Given the description of an element on the screen output the (x, y) to click on. 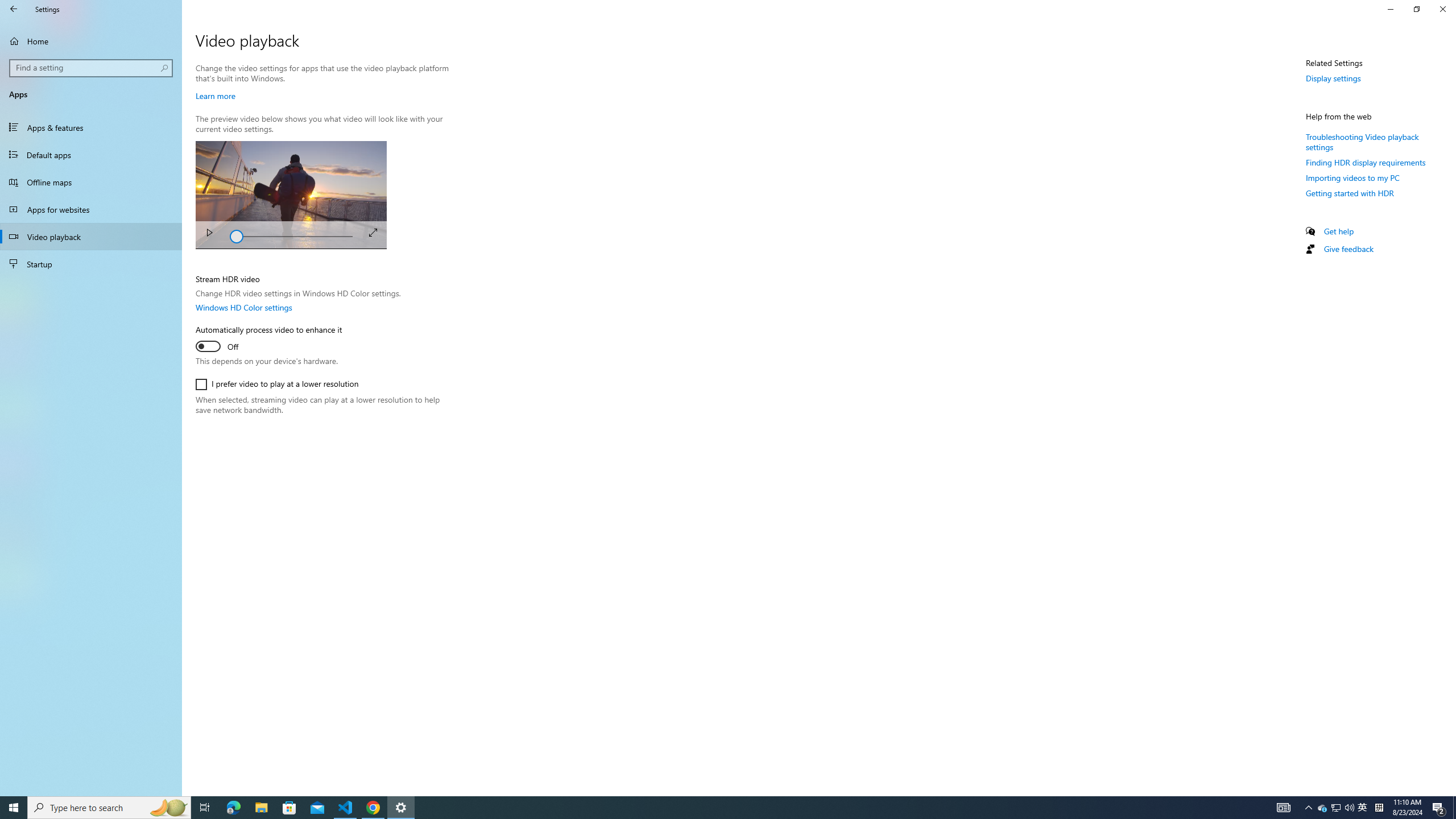
Importing videos to my PC (1352, 177)
Search box, Find a setting (91, 67)
Startup (91, 263)
Windows HD Color settings (243, 307)
Learn more (215, 95)
Automatically process video to enhance it (268, 339)
Home (91, 40)
Display settings (1333, 77)
Give feedback (1348, 248)
Minimize Settings (1390, 9)
